Given the description of an element on the screen output the (x, y) to click on. 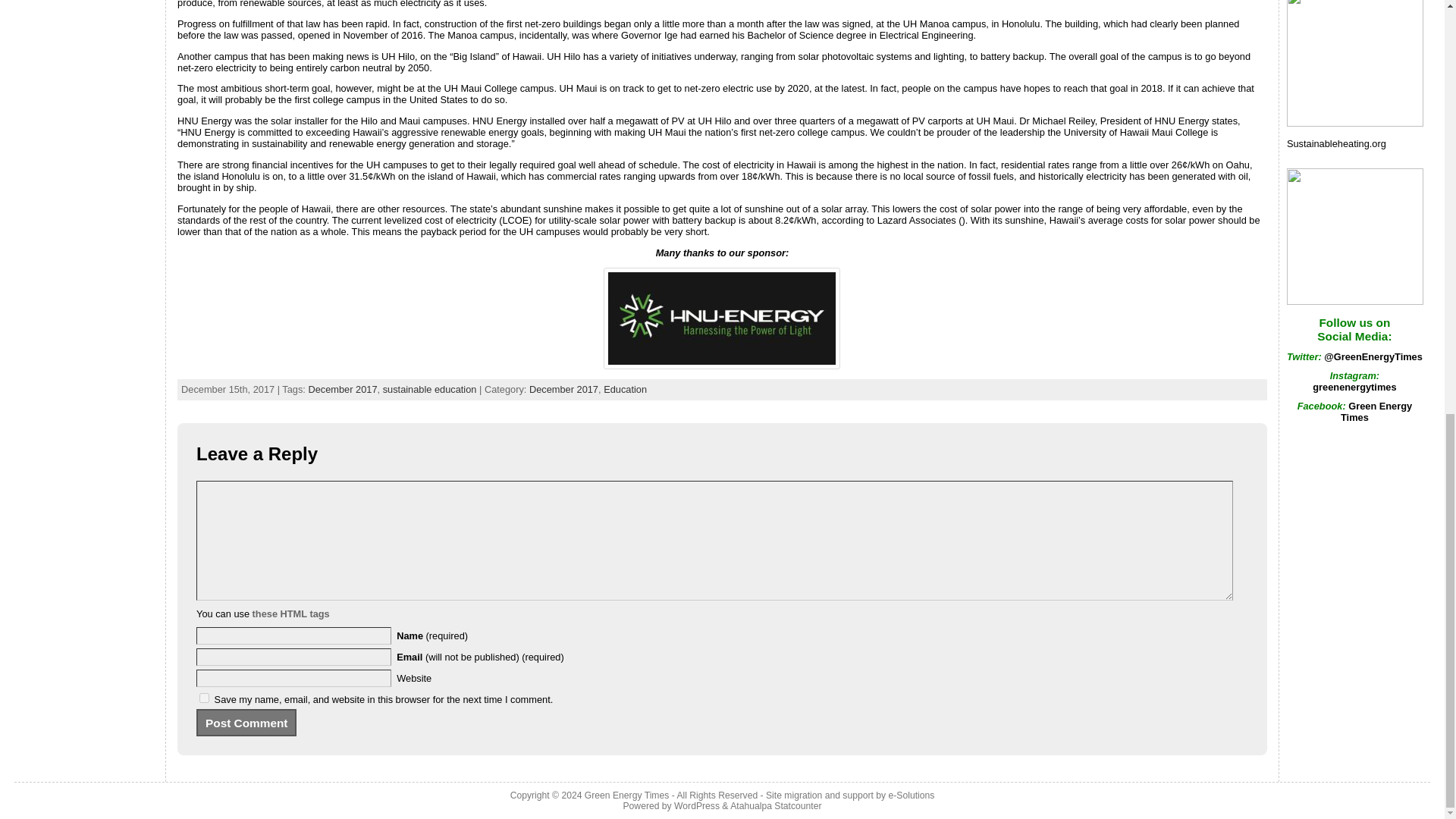
sustainable education (429, 389)
Education (625, 389)
Post Comment (246, 722)
yes (204, 697)
December 2017 (342, 389)
December 2017 (563, 389)
